Given the description of an element on the screen output the (x, y) to click on. 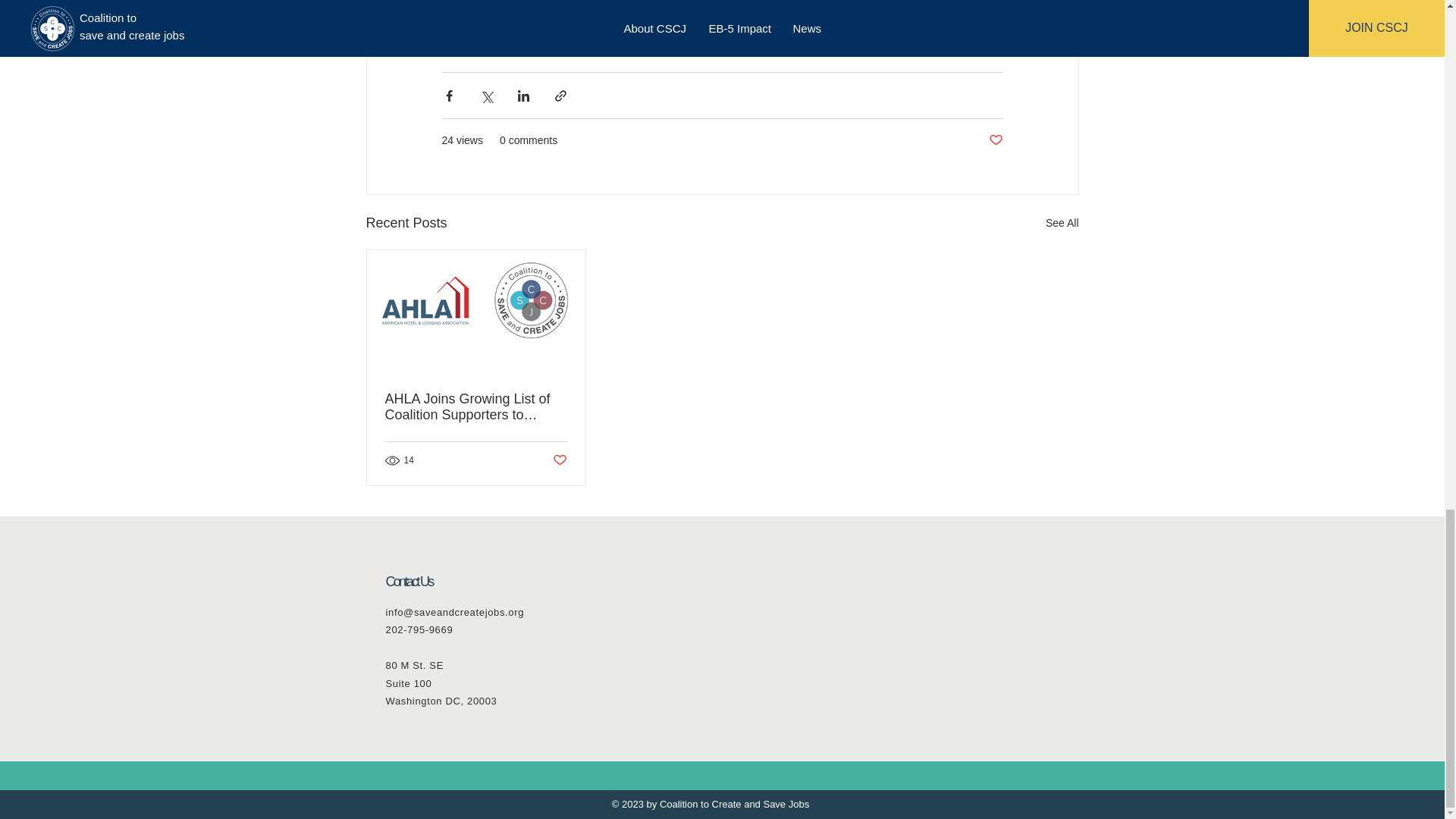
Post not marked as liked (558, 460)
See All (1061, 223)
Post not marked as liked (995, 140)
